Given the description of an element on the screen output the (x, y) to click on. 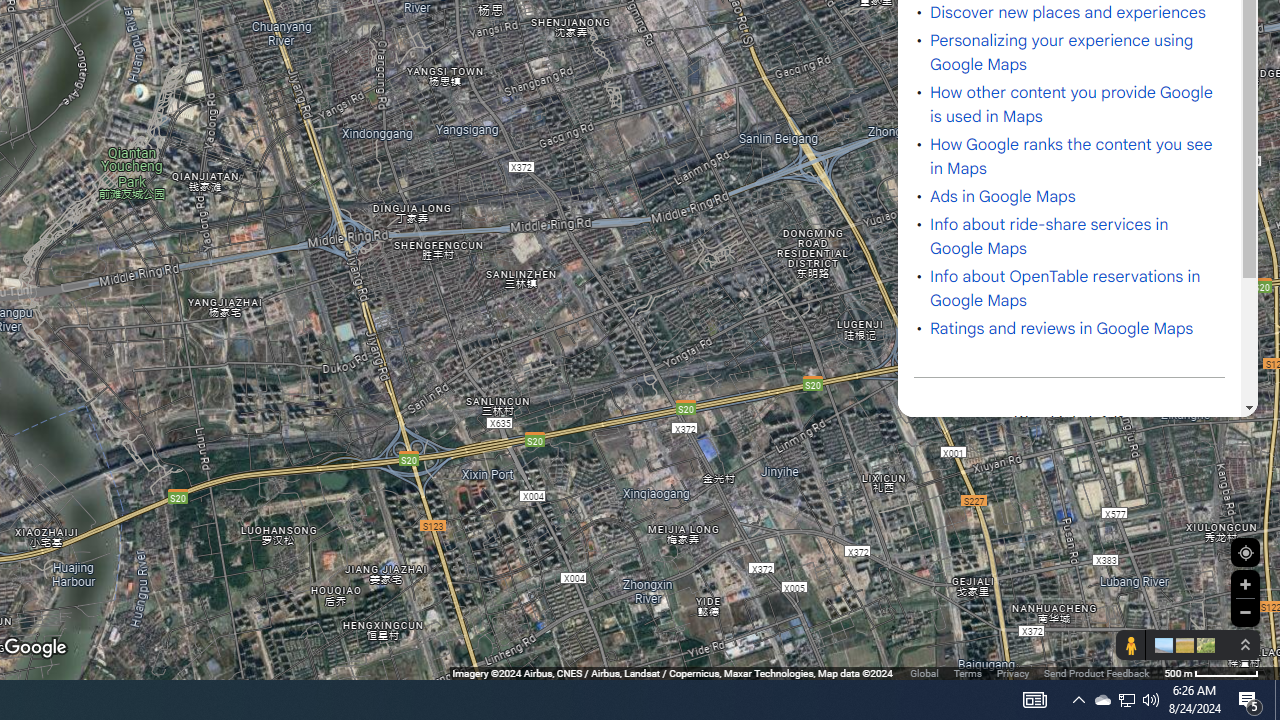
Info about OpenTable reservations in Google Maps (1065, 289)
How Google ranks the content you see in Maps (1071, 157)
Show Your Location (1245, 552)
